Given the description of an element on the screen output the (x, y) to click on. 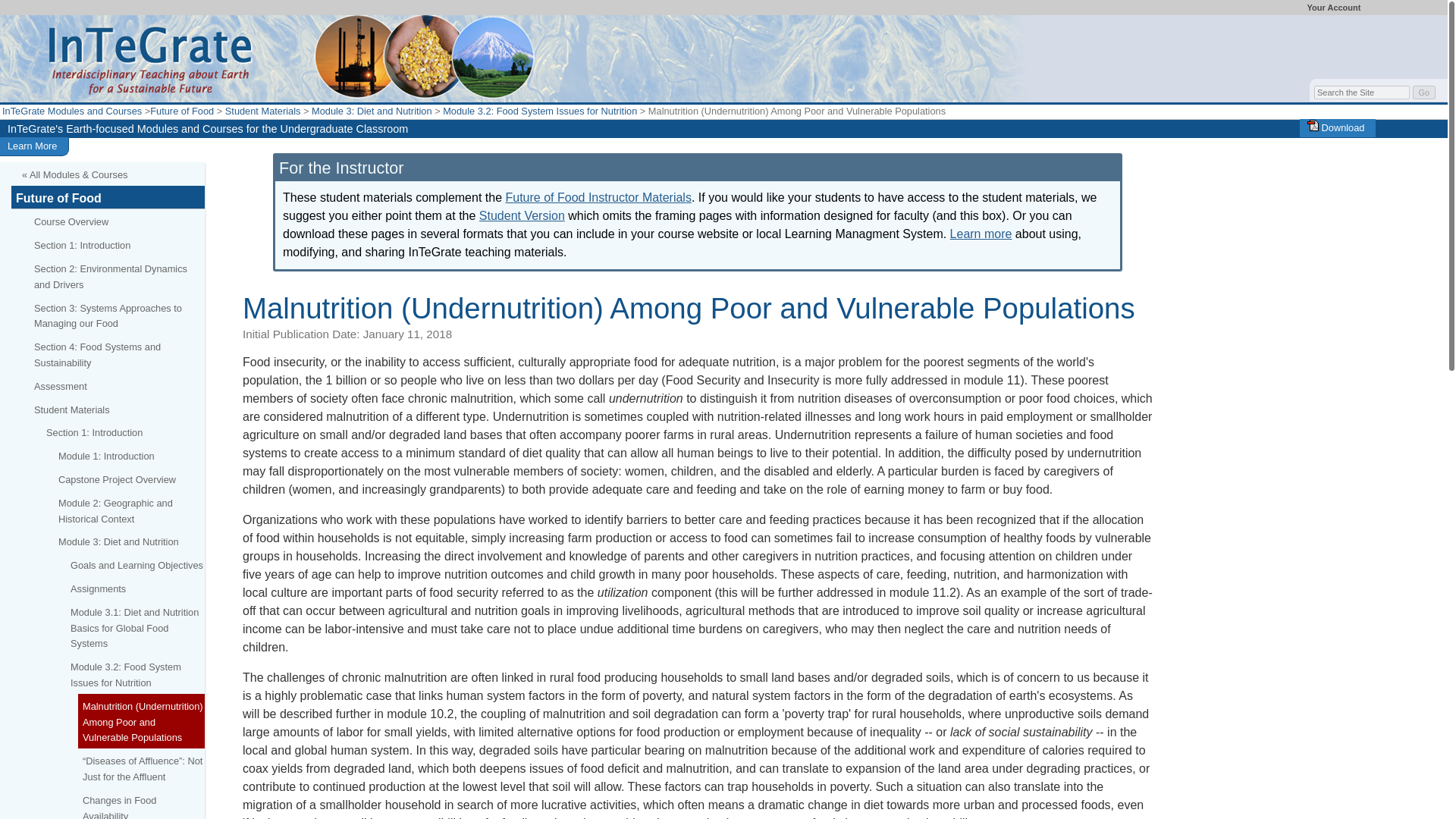
Learn More (31, 145)
Future of Food Instructor Materials (597, 196)
Module 3: Diet and Nutrition (371, 111)
Section 3: Systems Approaches to Managing our Food (117, 314)
Assessment (117, 385)
Student Version (521, 215)
Section 1: Introduction (117, 244)
Go (1423, 92)
InTeGrate Modules and Courses (71, 111)
Download (1335, 127)
Learn more (980, 233)
Section 2: Environmental Dynamics and Drivers (117, 275)
Module 1: Introduction (129, 454)
Future of Food (181, 111)
Future of Food (108, 197)
